Given the description of an element on the screen output the (x, y) to click on. 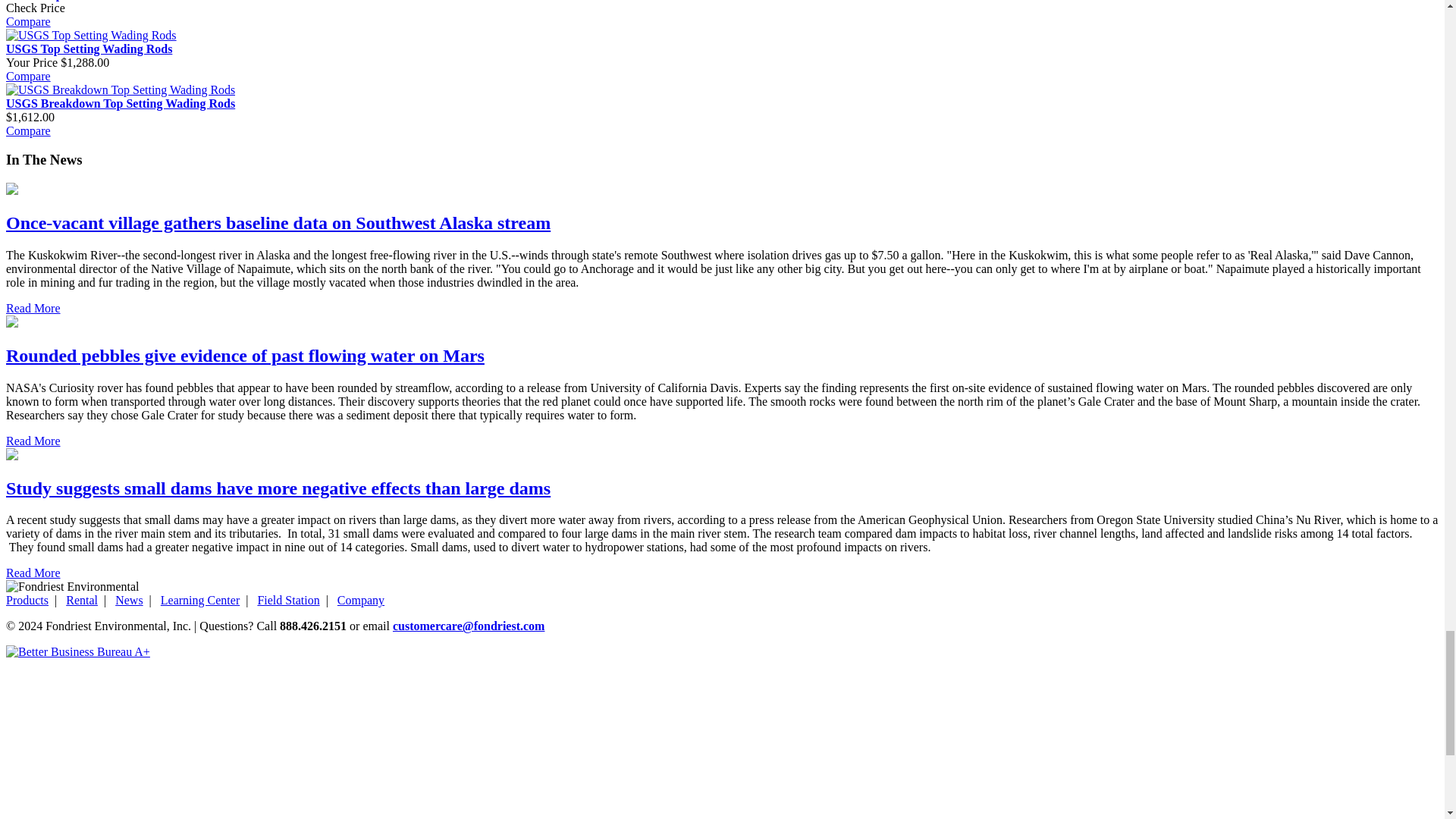
Compare (27, 21)
